Given the description of an element on the screen output the (x, y) to click on. 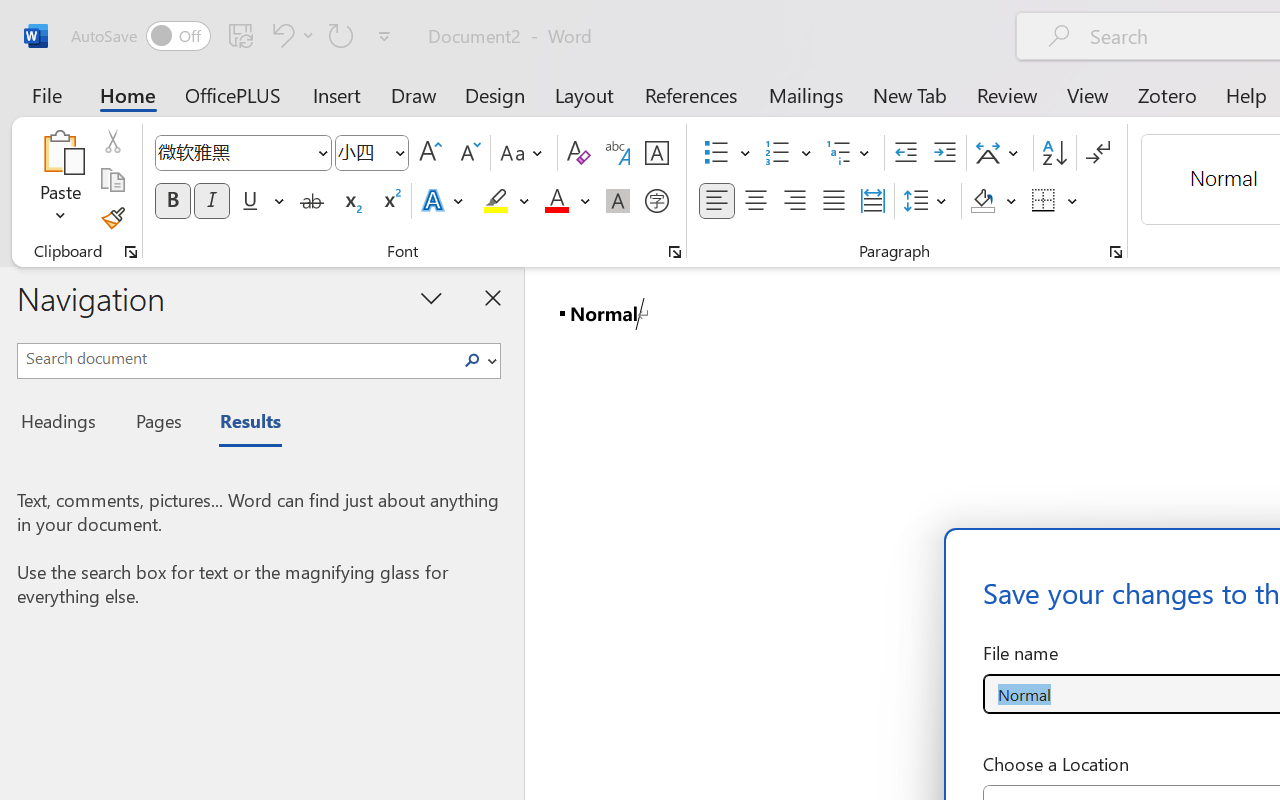
Paste (60, 151)
Text Highlight Color (506, 201)
Underline (250, 201)
Enclose Characters... (656, 201)
Format Painter (112, 218)
Font Color Red (556, 201)
Paragraph... (1115, 252)
Italic (212, 201)
Home (127, 94)
File Tab (46, 94)
Insert (337, 94)
Text Highlight Color Yellow (495, 201)
Bullets (716, 153)
Numbering (778, 153)
